Given the description of an element on the screen output the (x, y) to click on. 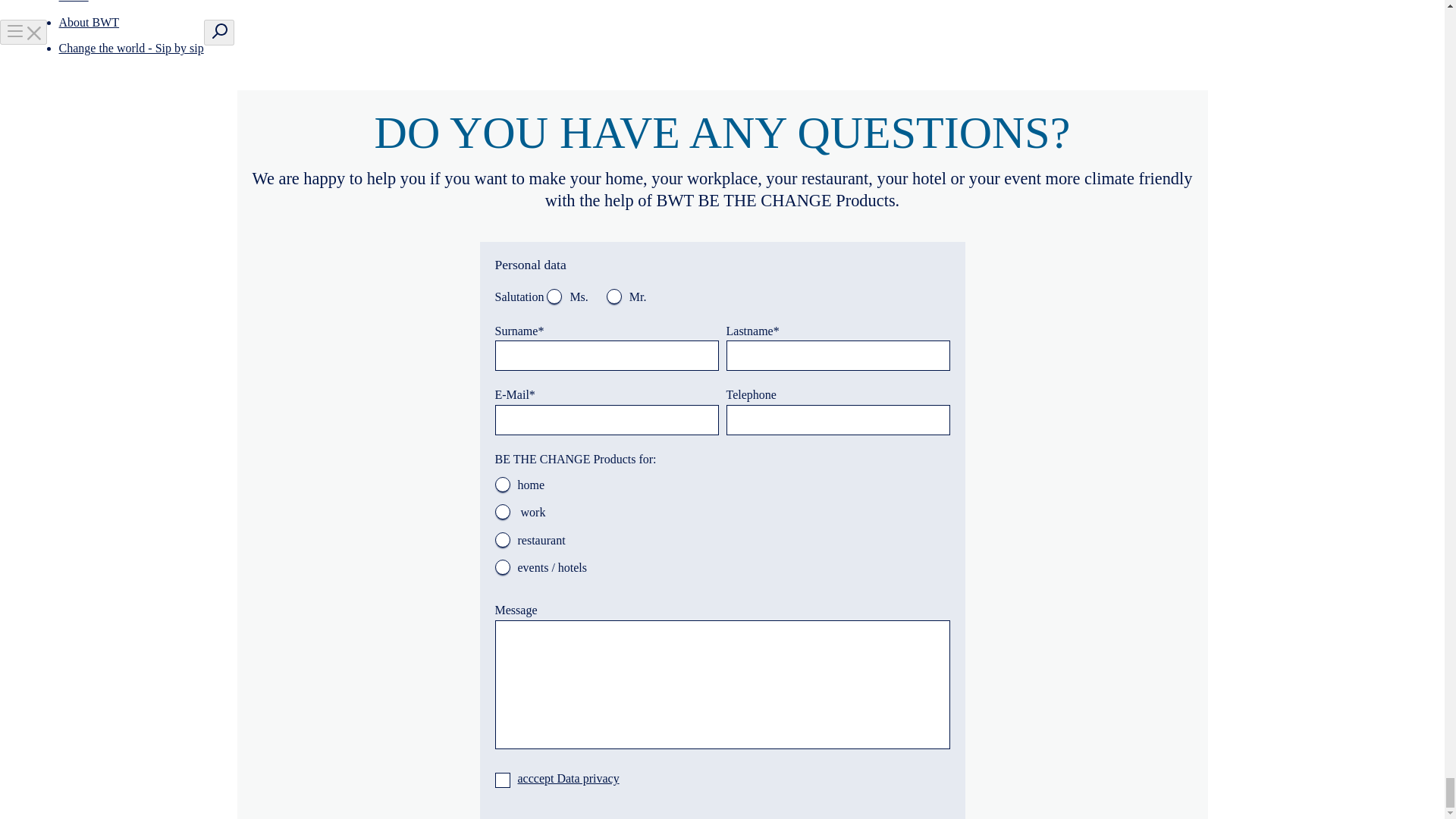
 work (502, 511)
Mr. (614, 296)
true (502, 780)
Ms. (554, 296)
restaurant (502, 539)
home (502, 484)
